Given the description of an element on the screen output the (x, y) to click on. 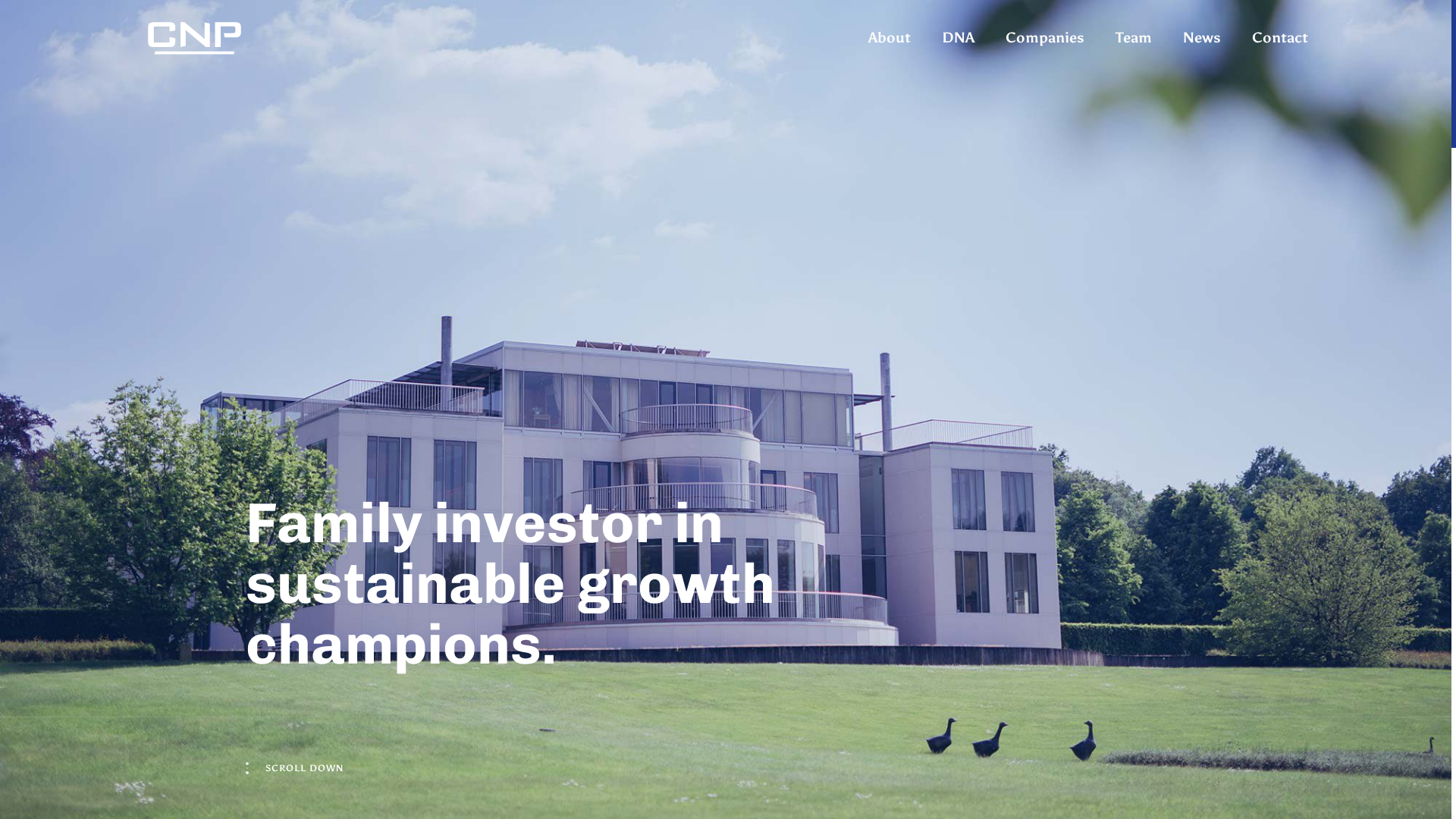
Team Element type: text (865, 630)
Homepage Element type: text (405, 630)
News Element type: text (957, 630)
About Element type: text (889, 37)
CNP Element type: text (194, 37)
About Element type: text (531, 630)
Website by Reed Element type: text (1237, 782)
Companies Element type: text (1044, 37)
Companies Element type: text (740, 630)
DNA Element type: text (620, 630)
News Element type: text (1201, 37)
Contact Element type: text (1280, 37)
Team Element type: text (1133, 37)
Menu Element type: text (1298, 37)
Privacy Policy Element type: text (672, 782)
DNA Element type: text (957, 37)
SCROLL DOWN Element type: text (294, 767)
Contact Element type: text (1065, 630)
